Given the description of an element on the screen output the (x, y) to click on. 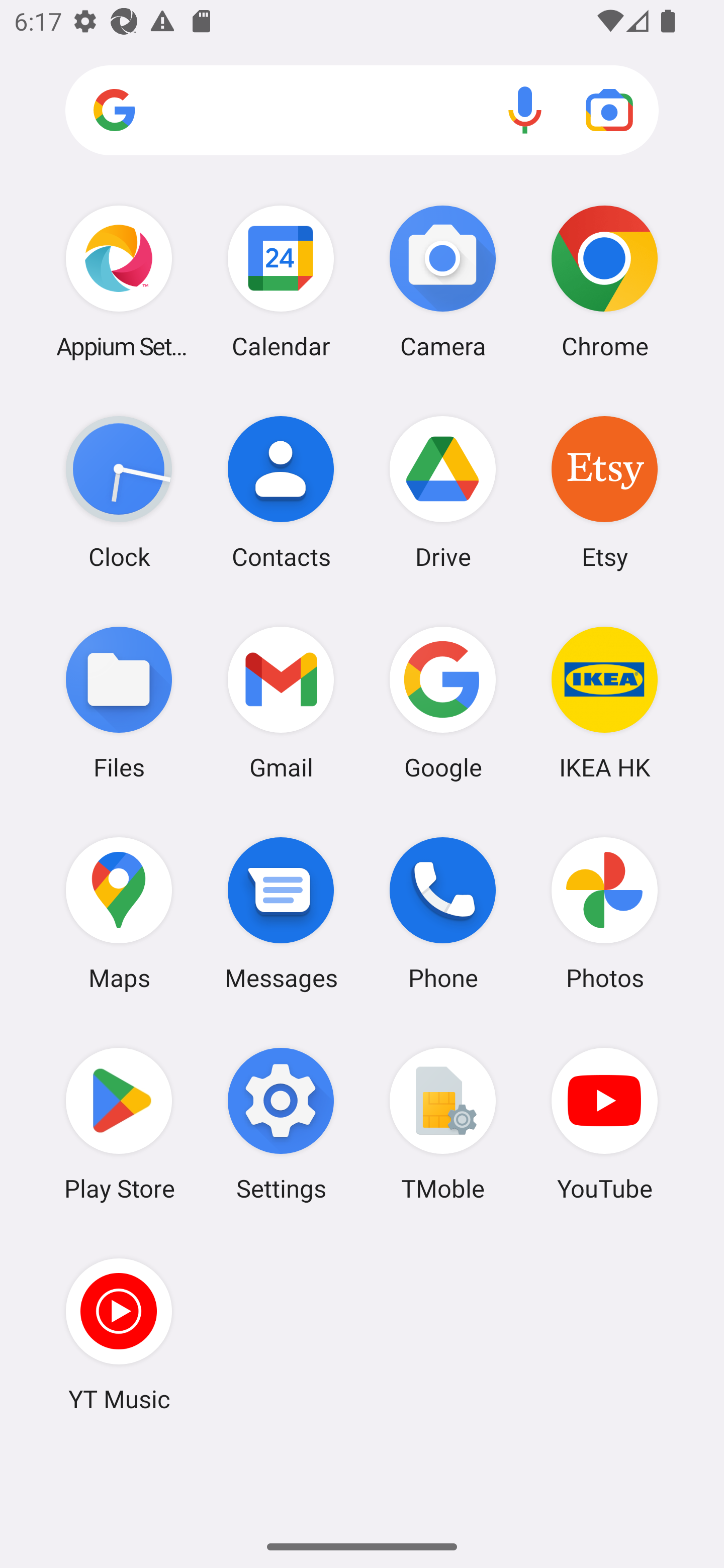
Search apps, web and more (361, 110)
Voice search (524, 109)
Google Lens (608, 109)
Appium Settings (118, 281)
Calendar (280, 281)
Camera (443, 281)
Chrome (604, 281)
Clock (118, 492)
Contacts (280, 492)
Drive (443, 492)
Etsy (604, 492)
Files (118, 702)
Gmail (280, 702)
Google (443, 702)
IKEA HK (604, 702)
Maps (118, 913)
Messages (280, 913)
Phone (443, 913)
Photos (604, 913)
Play Store (118, 1124)
Settings (280, 1124)
TMoble (443, 1124)
YouTube (604, 1124)
YT Music (118, 1334)
